Given the description of an element on the screen output the (x, y) to click on. 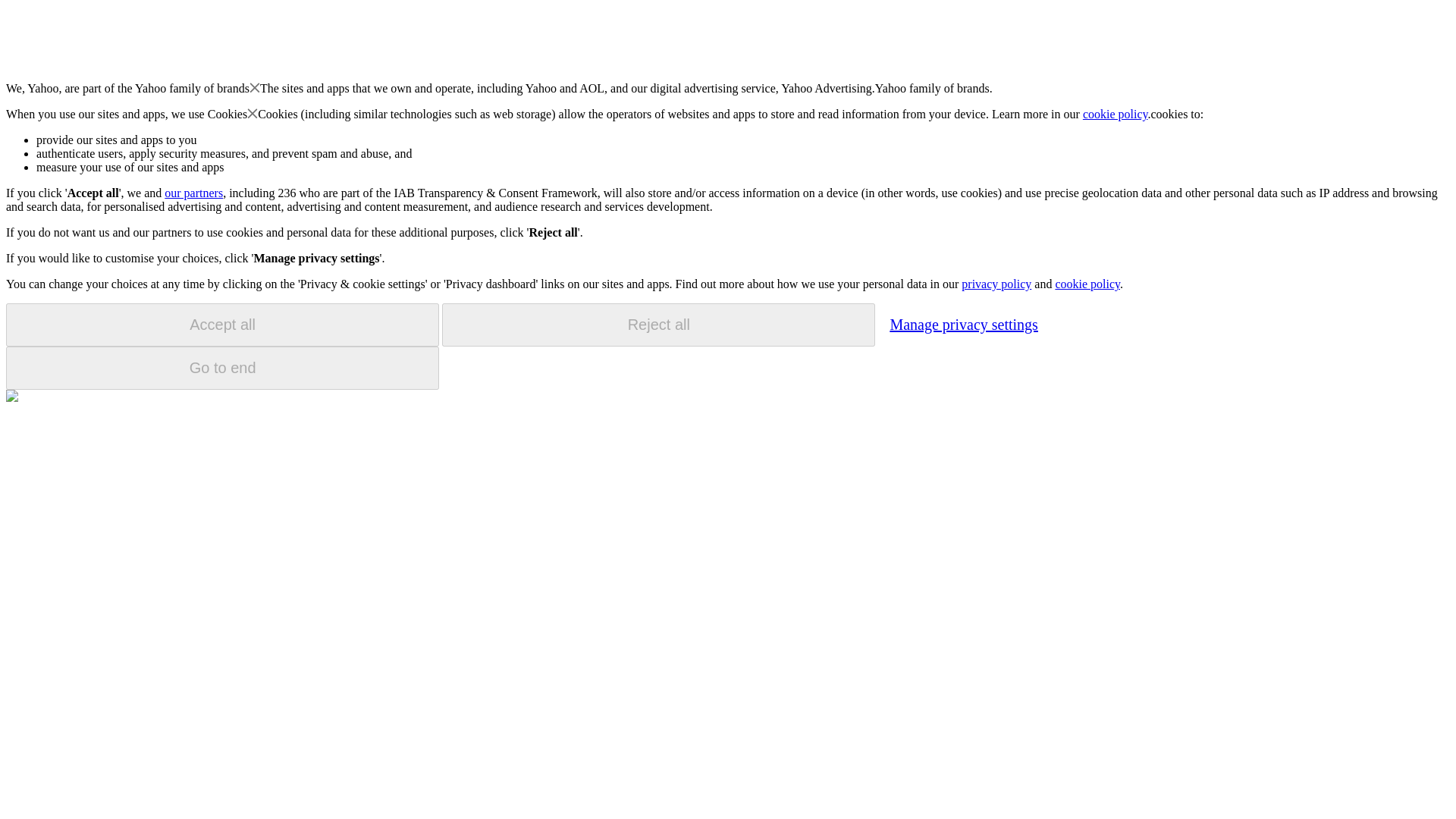
Accept all (222, 324)
Reject all (658, 324)
cookie policy (1086, 283)
cookie policy (1115, 113)
our partners (193, 192)
Manage privacy settings (963, 323)
privacy policy (995, 283)
Go to end (222, 367)
